Given the description of an element on the screen output the (x, y) to click on. 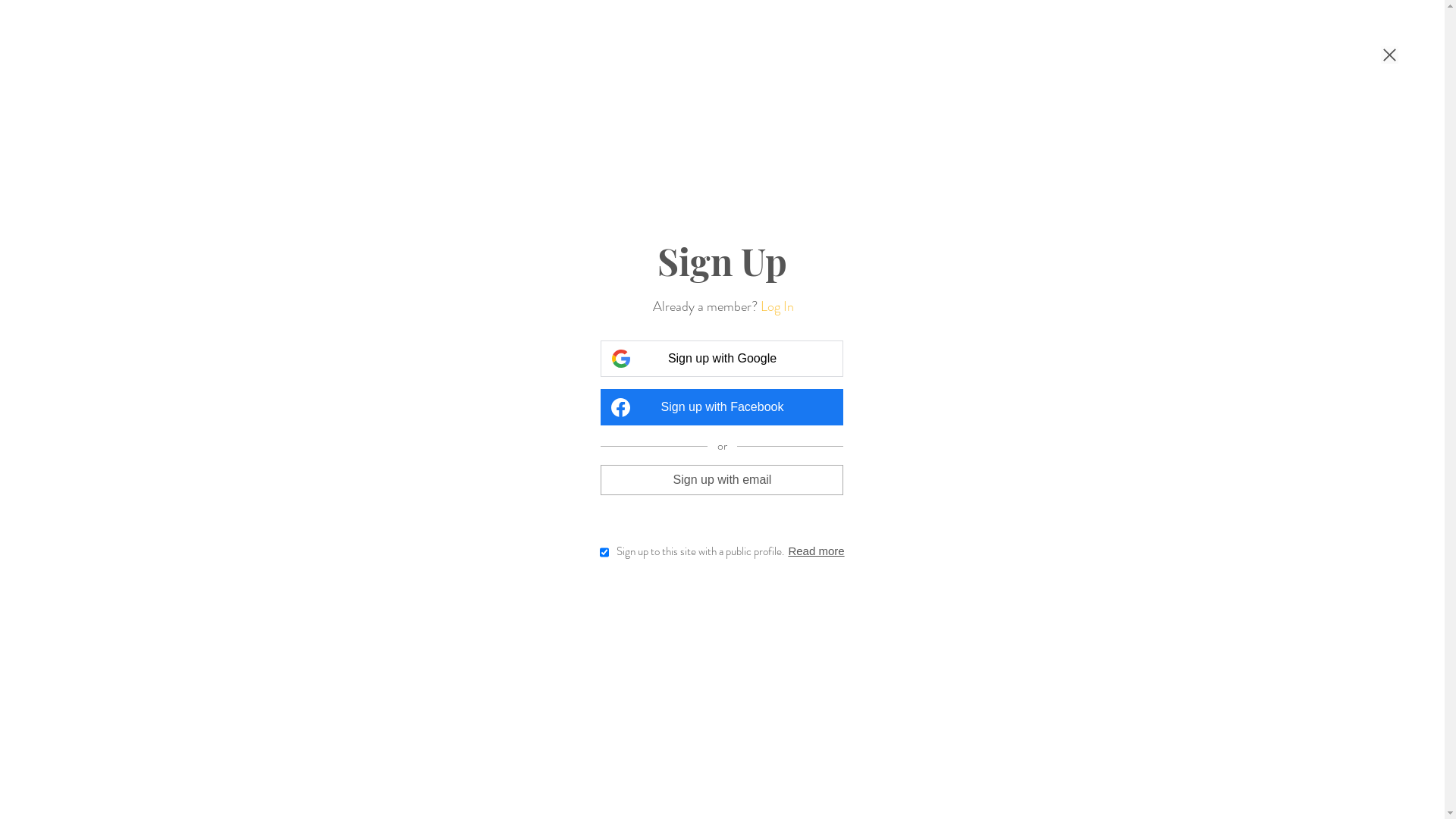
Sign up with Facebook Element type: text (721, 407)
Read more Element type: text (815, 550)
Sign up with email Element type: text (721, 479)
Log In Element type: text (776, 306)
Sign up with Google Element type: text (721, 358)
